Given the description of an element on the screen output the (x, y) to click on. 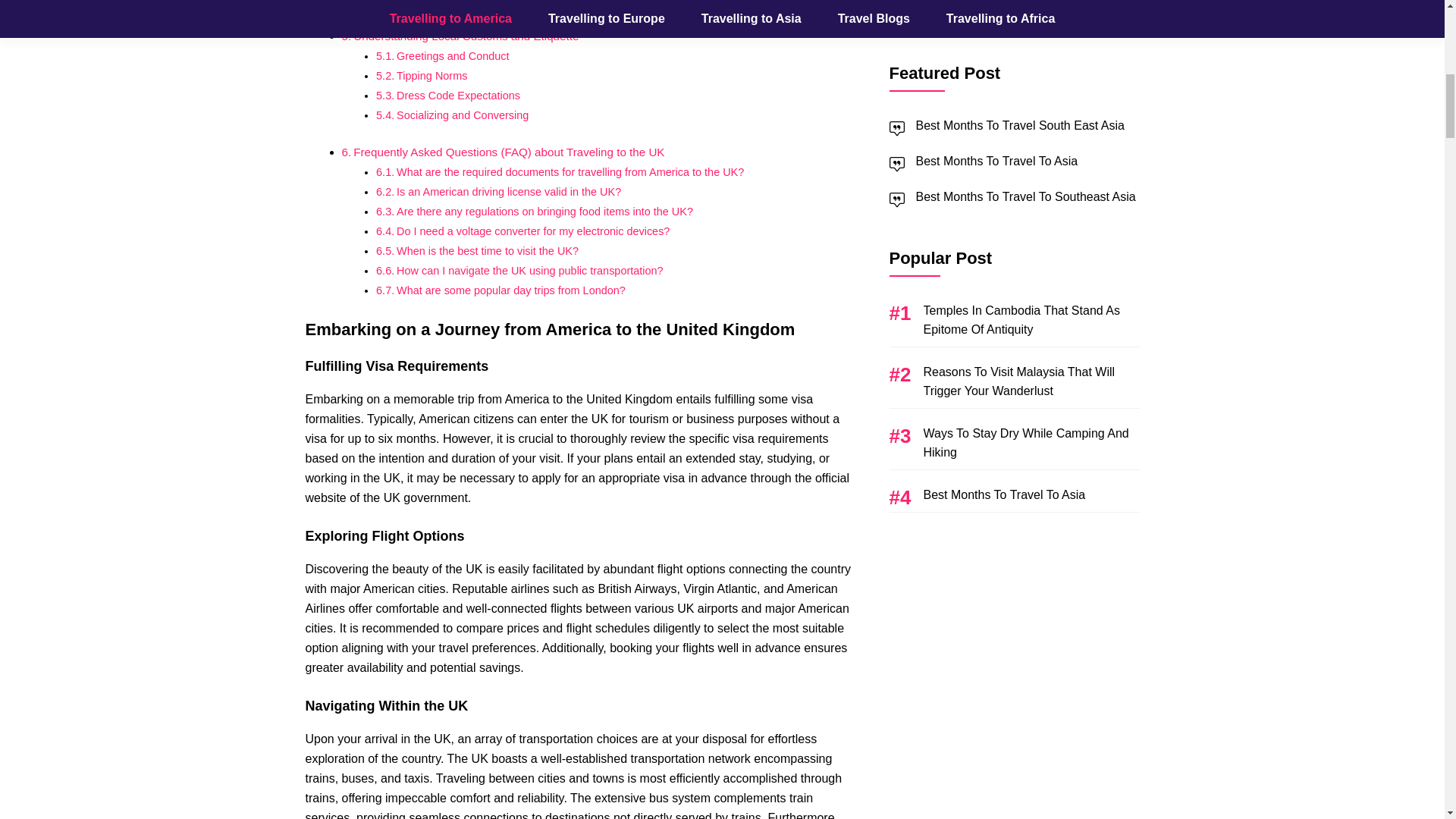
Exploring Local Markets and Unique Shopping (508, 2)
